Given the description of an element on the screen output the (x, y) to click on. 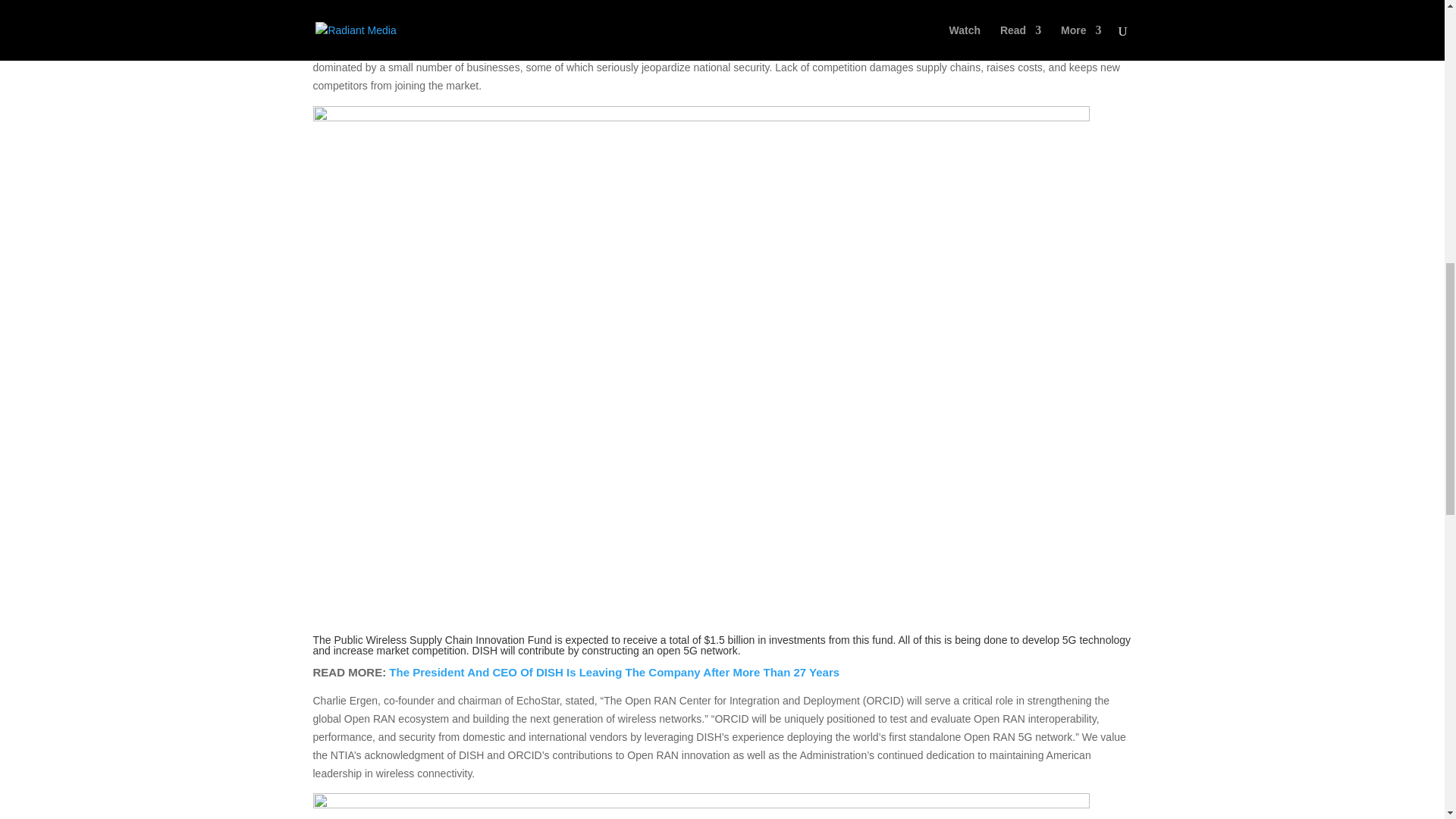
DISH Unveils New Interactive Customized Sling TV Commercials (562, 19)
